Given the description of an element on the screen output the (x, y) to click on. 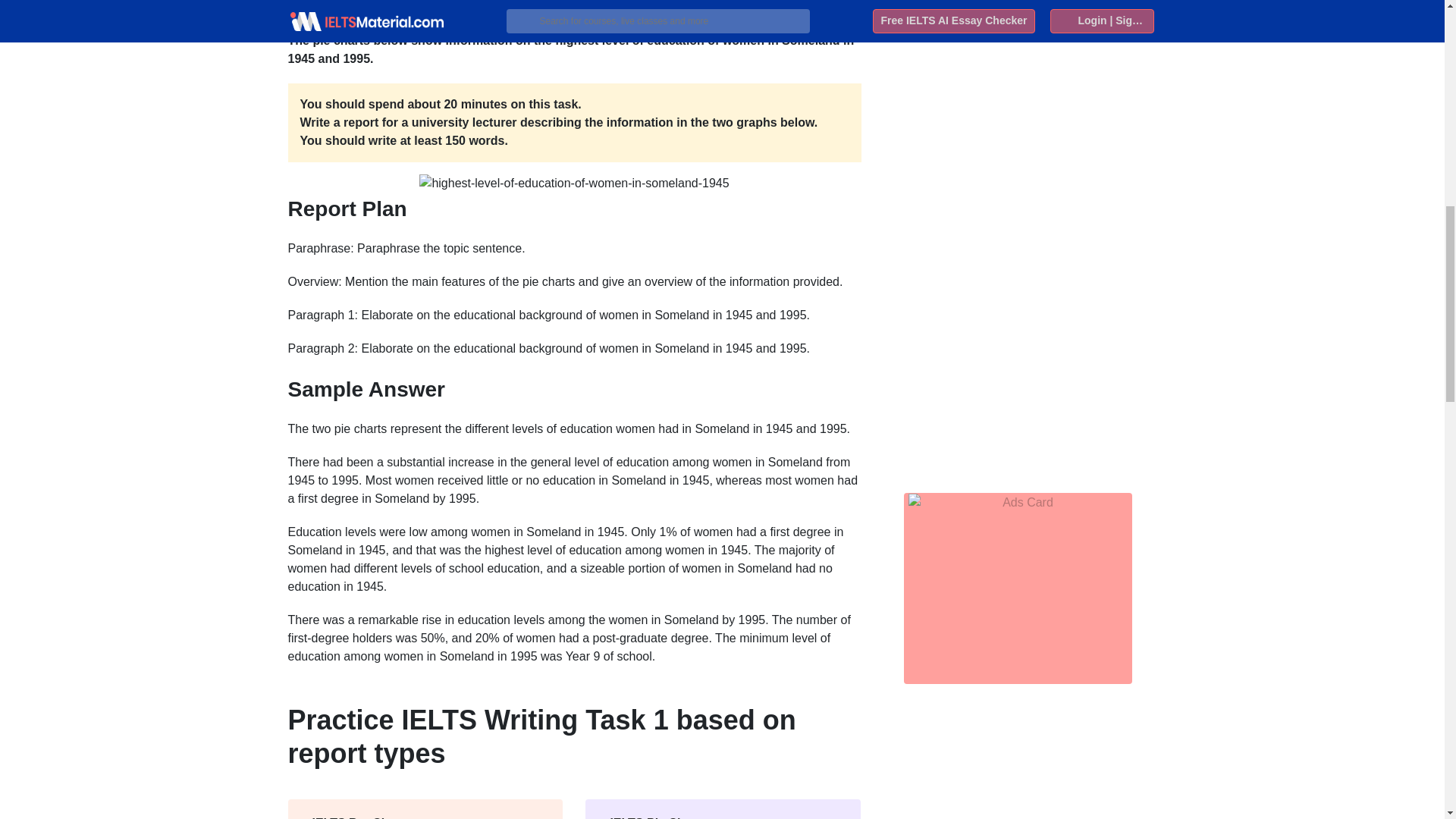
IELTS Pie Chart (722, 809)
Sample Answer (574, 393)
Report Plan (574, 212)
IELTS Bar Chart (425, 809)
IELTS Web Stories (979, 1)
